Given the description of an element on the screen output the (x, y) to click on. 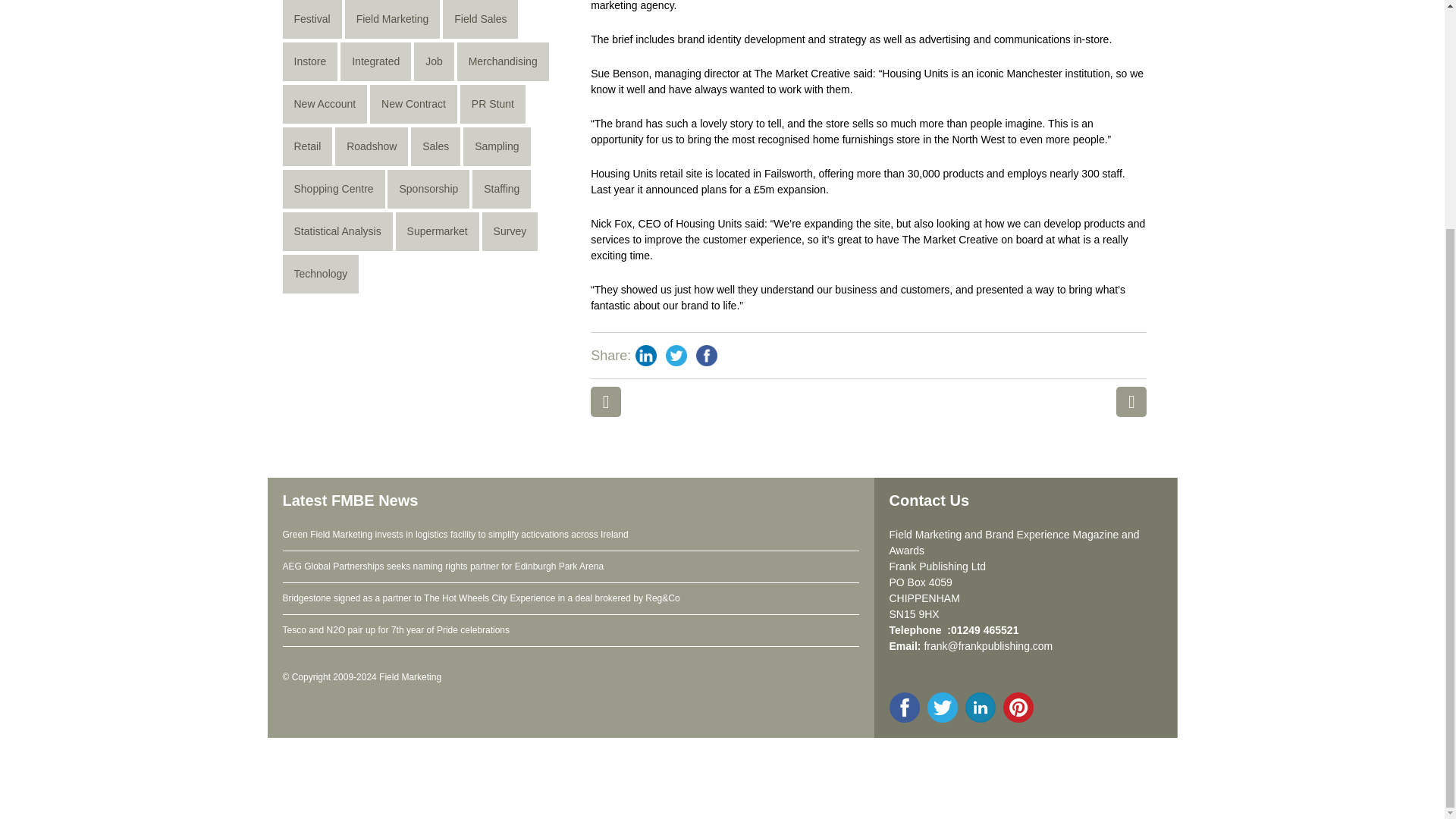
LinkedIn (645, 355)
Facebook (706, 355)
Twitter (676, 355)
